Given the description of an element on the screen output the (x, y) to click on. 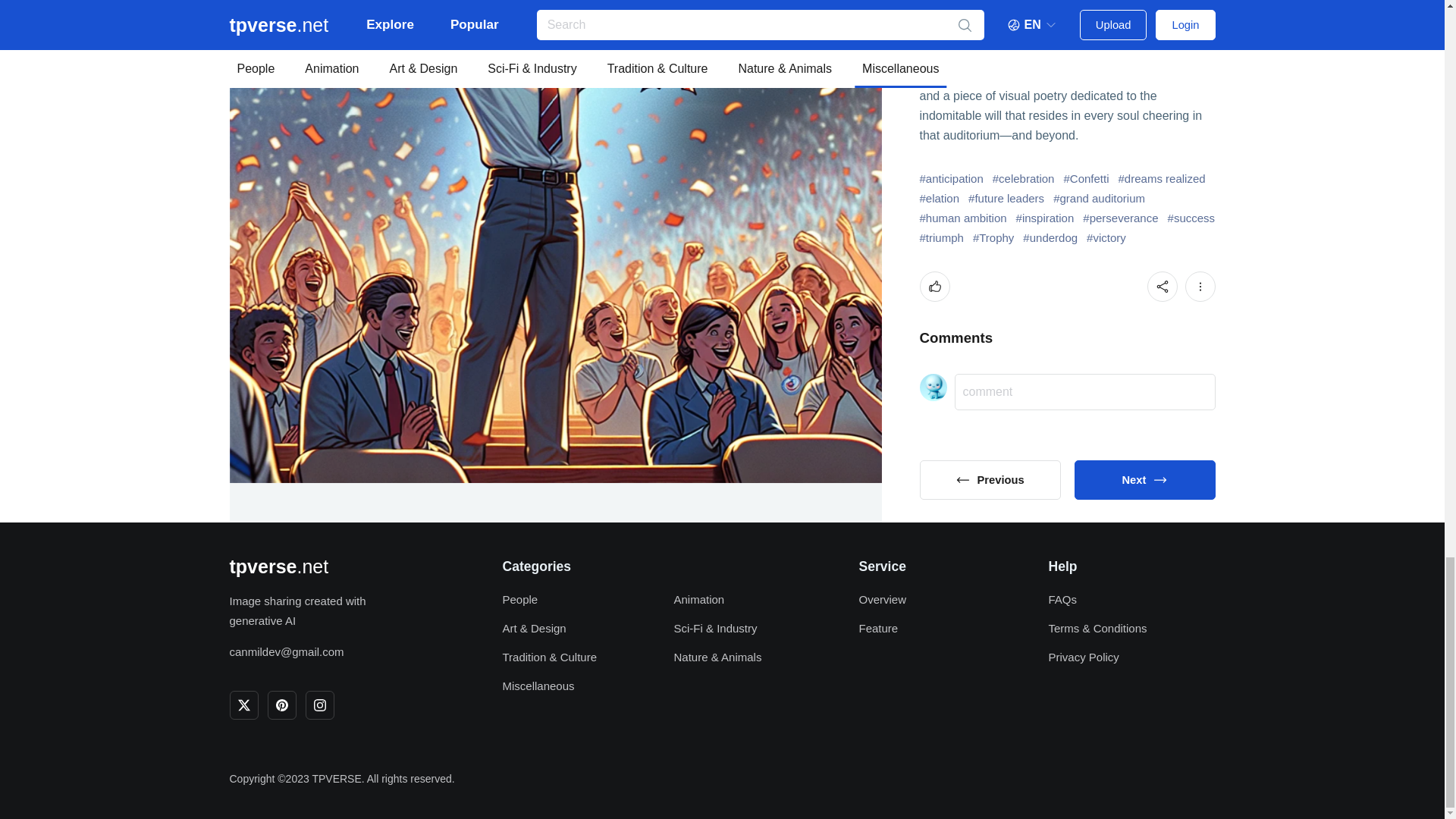
future leaders (1005, 198)
inspiration (1045, 218)
Twilight Kingdom: Echoes of the Night (988, 479)
perseverance (1120, 218)
Confetti (1085, 178)
dreams realized (1161, 178)
triumph (940, 238)
underdog (1050, 238)
anticipation (950, 178)
human ambition (962, 218)
